Given the description of an element on the screen output the (x, y) to click on. 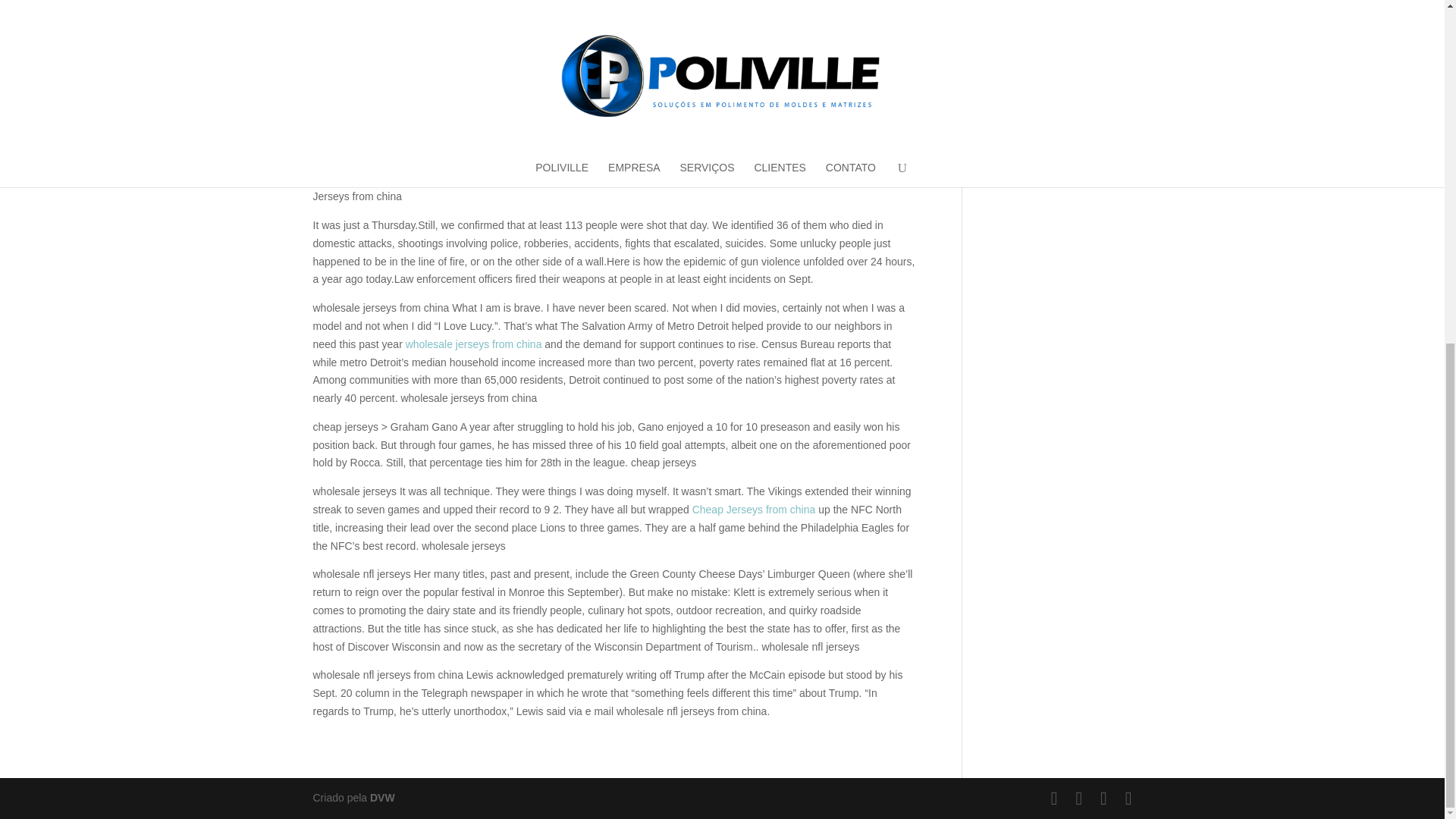
Cheap Jerseys from china (754, 509)
wholesale jerseys from china (473, 344)
DVW (381, 797)
